Given the description of an element on the screen output the (x, y) to click on. 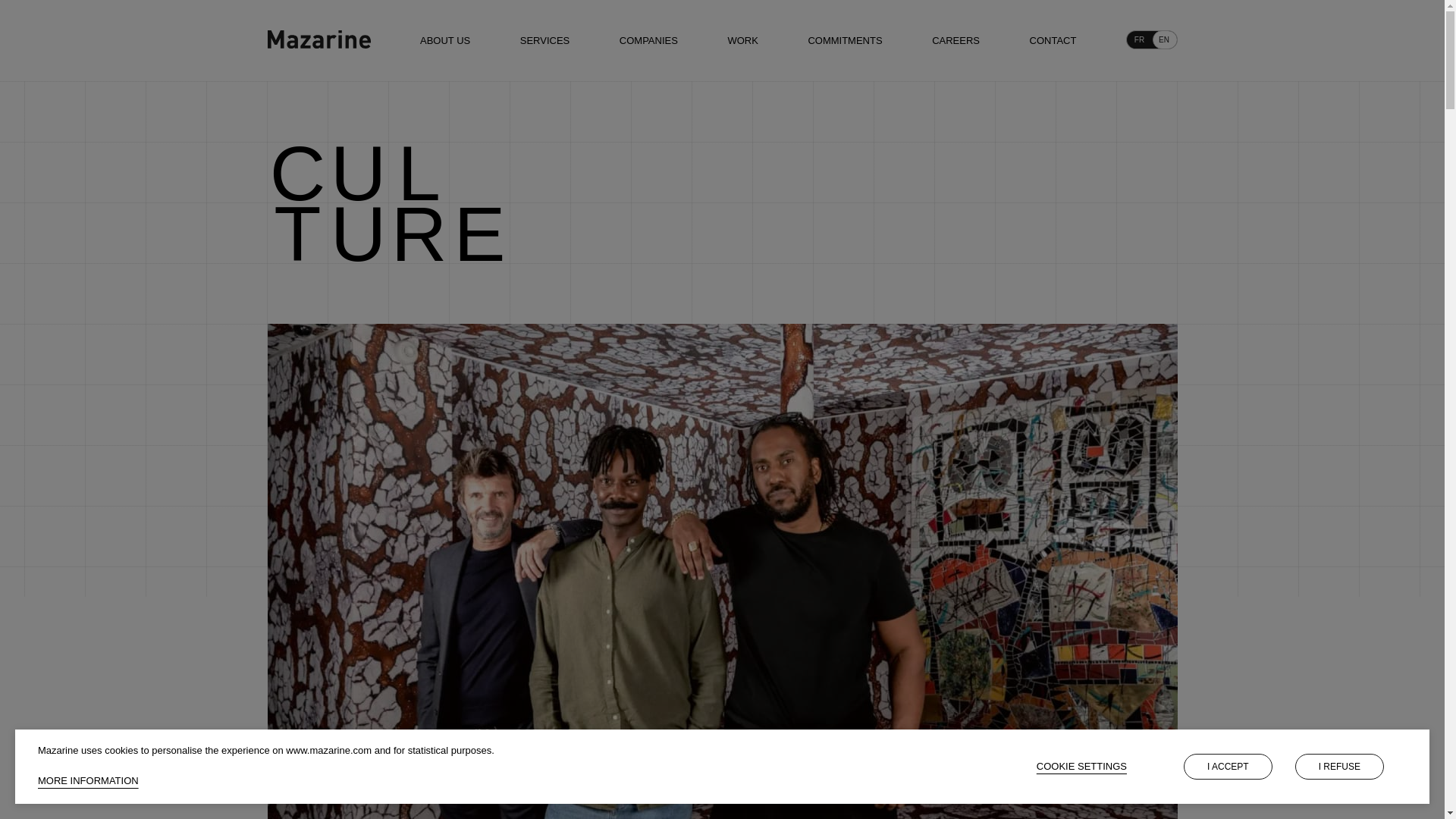
COOKIE SETTINGS (1081, 766)
MORE INFORMATION (87, 780)
CAREERS (955, 40)
COMMITMENTS (845, 40)
Mazarine (317, 40)
FR (1138, 39)
COMPANIES (649, 40)
CONTACT (1053, 40)
I ACCEPT (1227, 766)
SERVICES (544, 40)
